Given the description of an element on the screen output the (x, y) to click on. 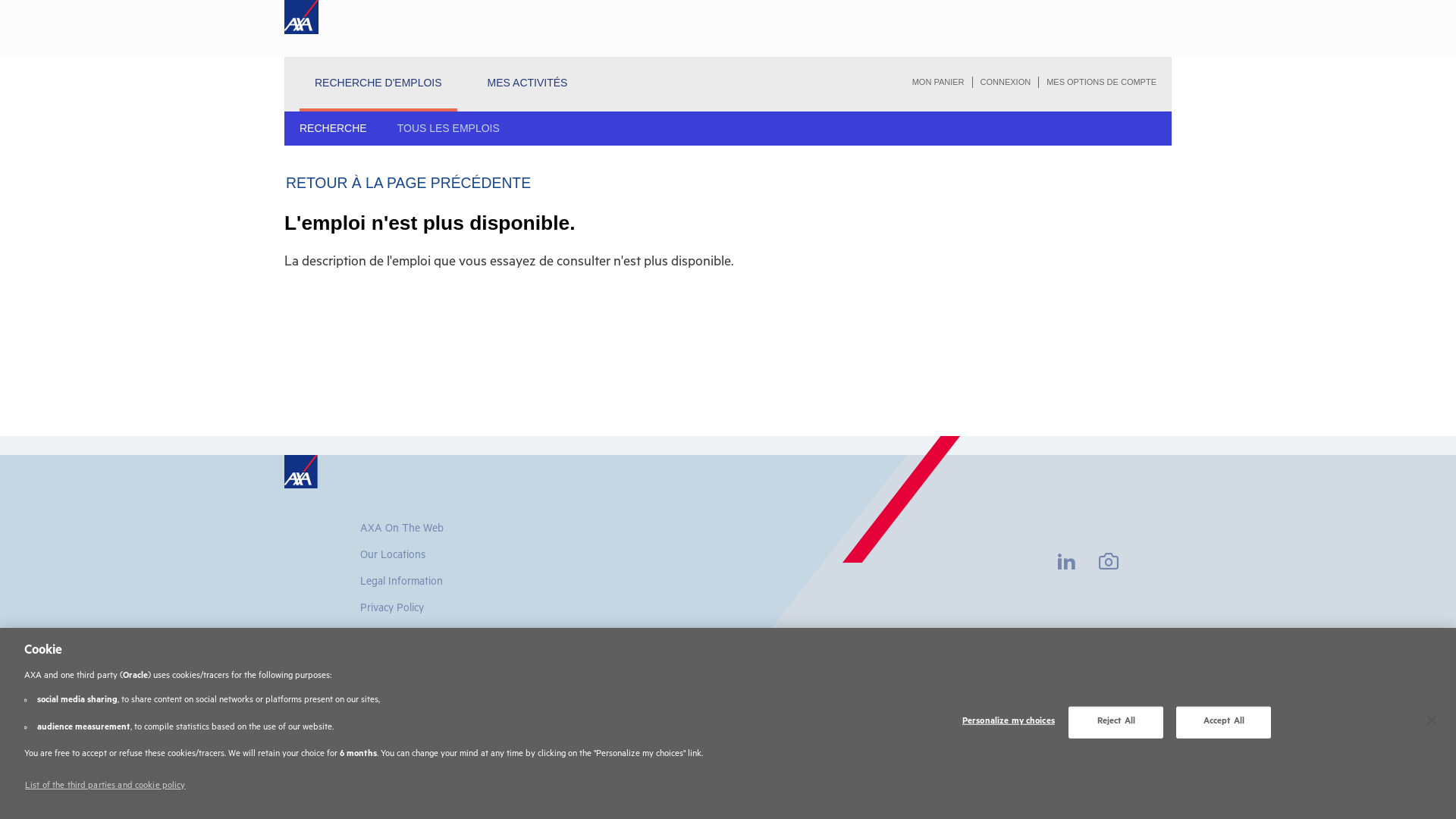
MES OPTIONS DE COMPTE Element type: text (1097, 81)
Personalize my choices Element type: text (1007, 722)
MON PANIER Element type: text (938, 81)
Legal Information Element type: text (401, 583)
Reject All Element type: text (1115, 722)
Cookies Policy Element type: text (393, 636)
Our Locations Element type: text (392, 556)
Privacy Policy Element type: text (391, 609)
List of the third parties and cookie policy Element type: text (105, 786)
AXA On The Web Element type: text (401, 530)
TOUS LES EMPLOIS Element type: text (448, 128)
CONNEXION Element type: text (1005, 81)
Accept All Element type: text (1223, 722)
